Given the description of an element on the screen output the (x, y) to click on. 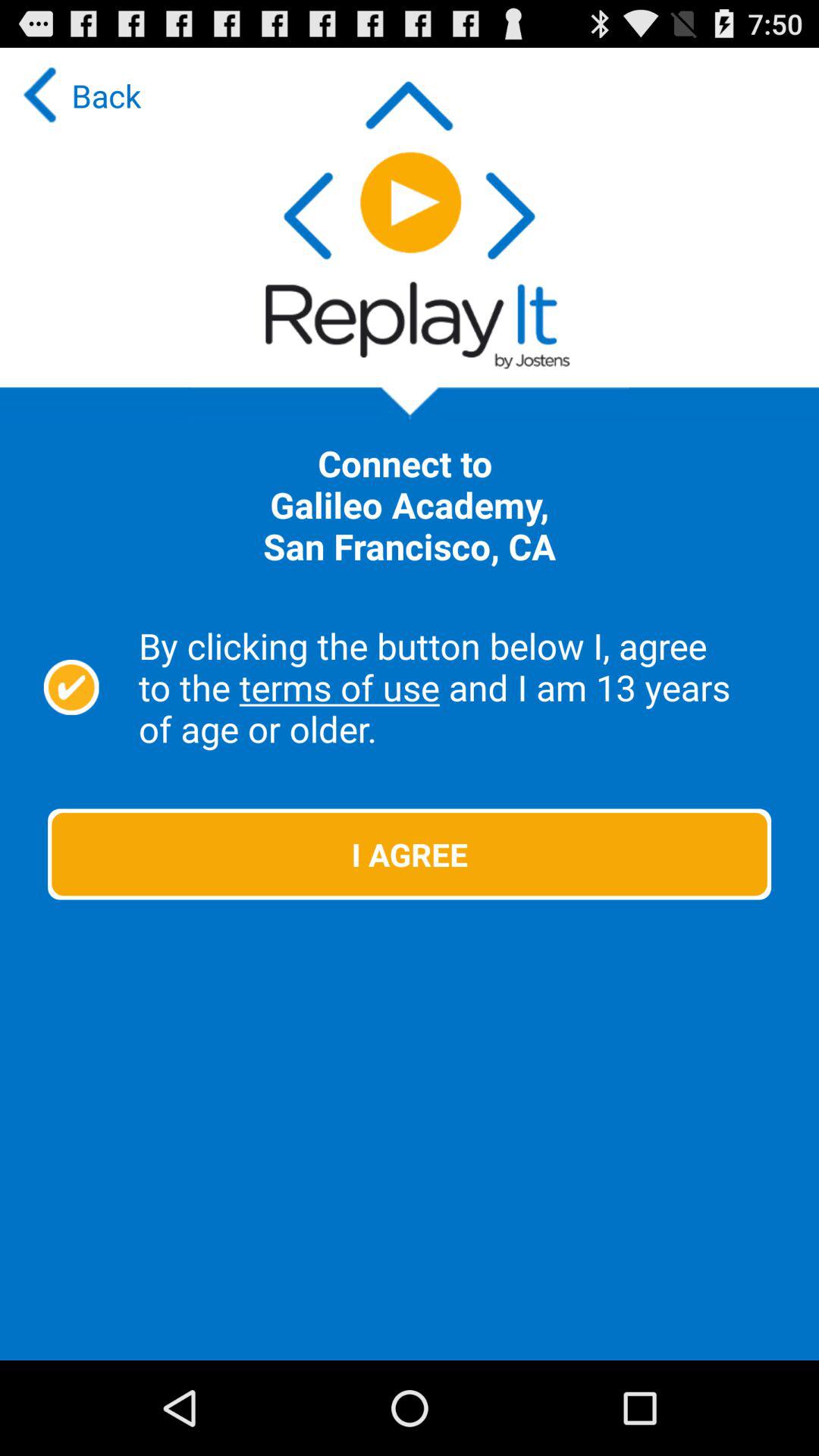
press the icon to the left of by clicking the (70, 686)
